Given the description of an element on the screen output the (x, y) to click on. 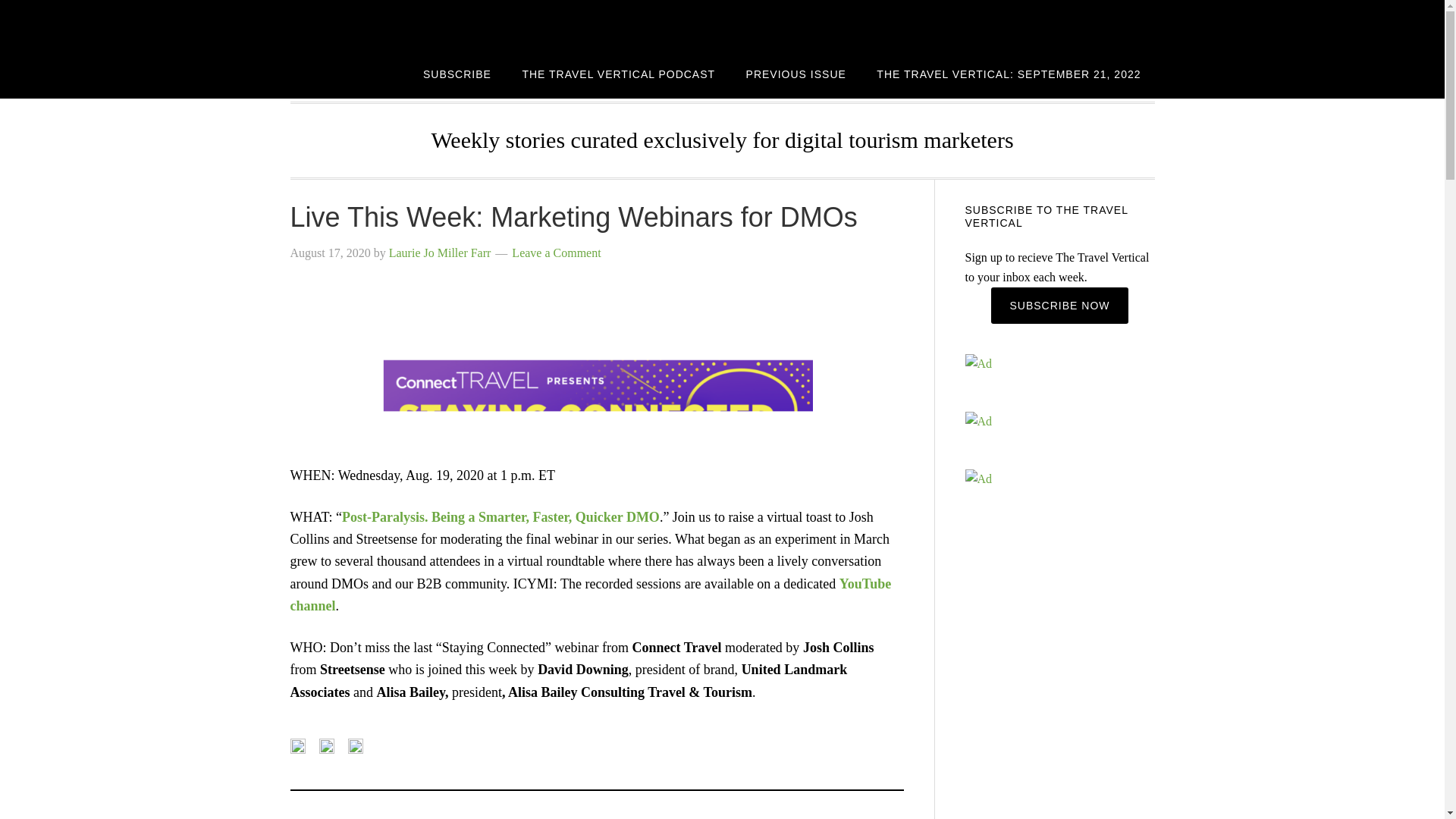
Live This Week: Marketing Webinars for DMOs (573, 216)
PREVIOUS ISSUE (796, 73)
THE TRAVEL VERTICAL: SEPTEMBER 21, 2022 (1008, 73)
THE TRAVEL VERTICAL PODCAST (618, 73)
Subscribe Now (1058, 305)
SUBSCRIBE (457, 73)
Laurie Jo Miller Farr (440, 252)
Post-Paralysis. Being a Smarter, Faster, Quicker DMO (500, 516)
THE TRAVEL VERTICAL (410, 24)
Leave a Comment (555, 252)
